Given the description of an element on the screen output the (x, y) to click on. 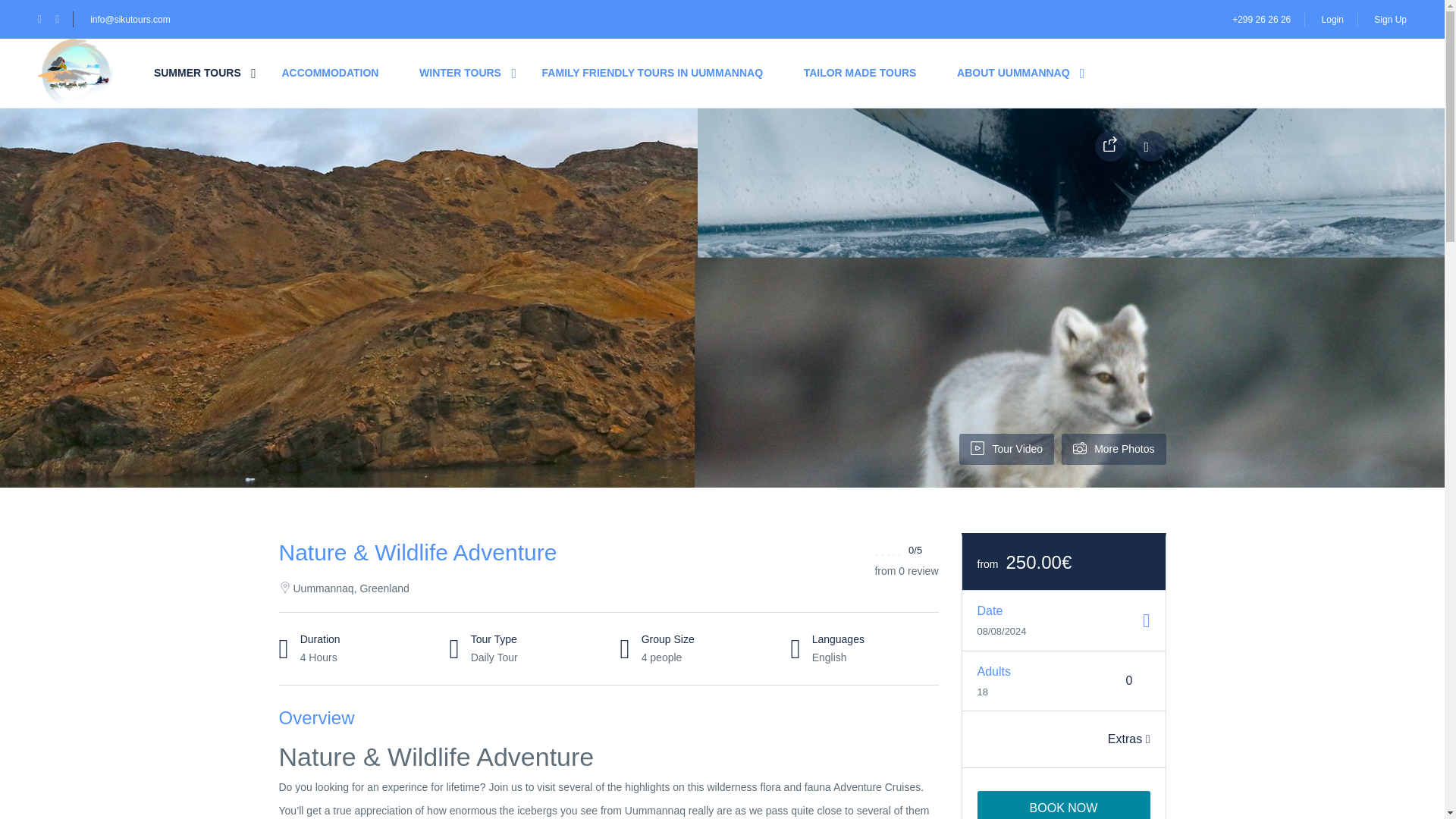
SUMMER TOURS (197, 72)
FAMILY FRIENDLY TOURS IN UUMMANNAQ (651, 72)
0 (1129, 680)
More Photos (1113, 449)
ABOUT UUMMANNAQ (1013, 72)
Tour Video (1006, 449)
Sign Up (1390, 18)
Login (1332, 18)
WINTER TOURS (459, 72)
TAILOR MADE TOURS (860, 72)
